Given the description of an element on the screen output the (x, y) to click on. 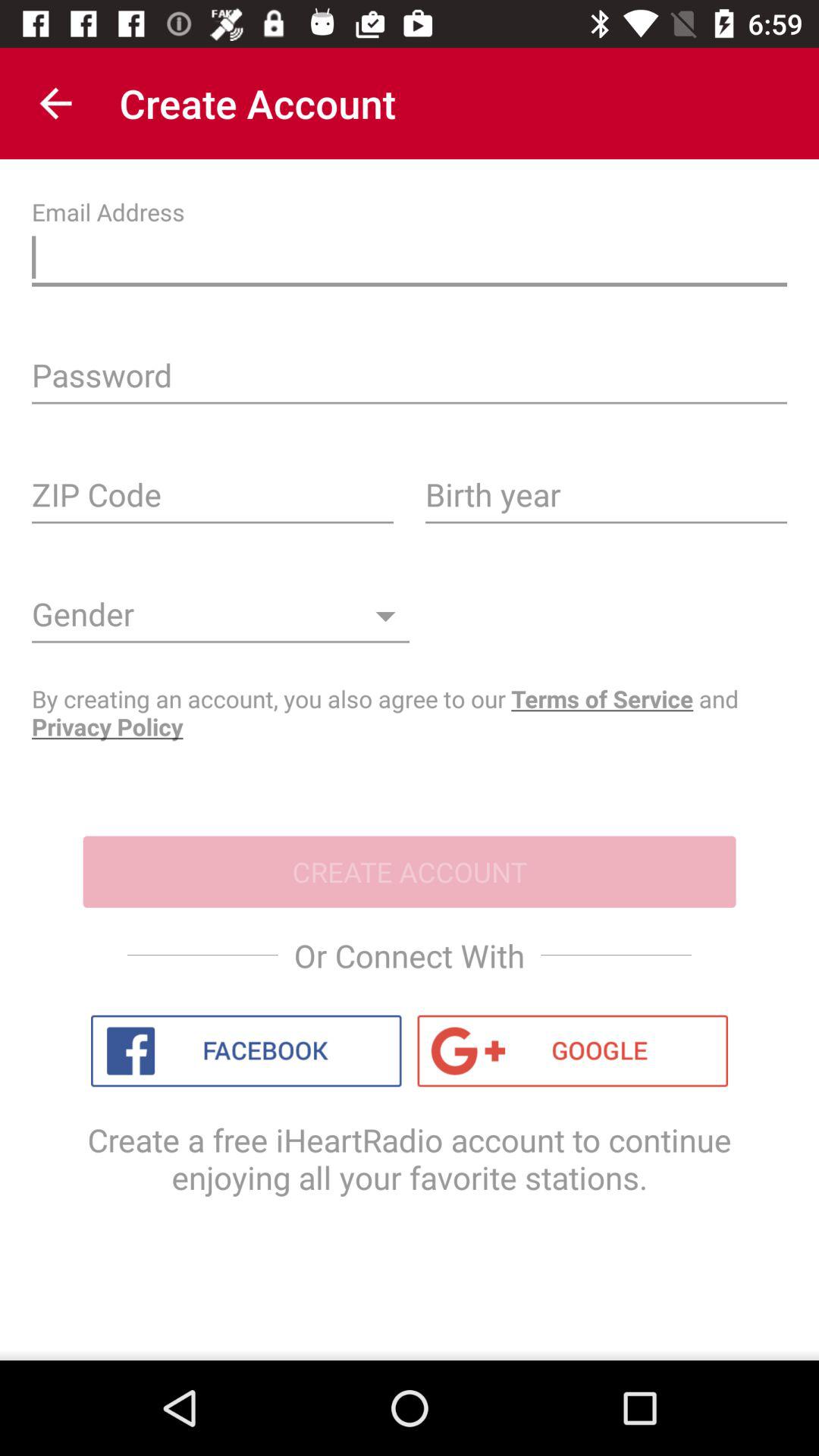
birth year entered here (606, 499)
